Given the description of an element on the screen output the (x, y) to click on. 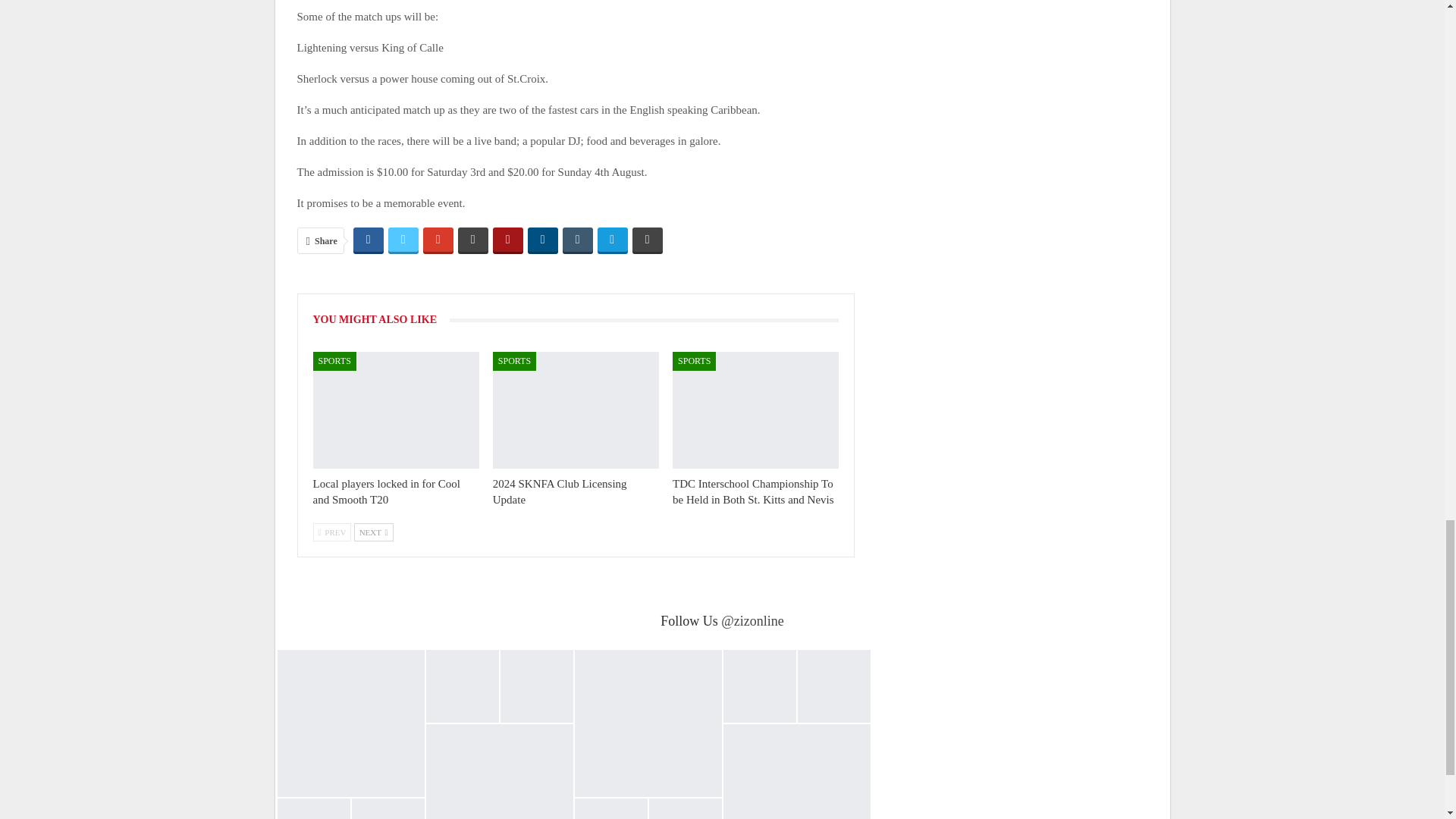
2024 SKNFA Club Licensing Update (576, 409)
Next (373, 532)
Local players locked in for Cool and Smooth T20 (396, 409)
Previous (331, 532)
2024 SKNFA Club Licensing Update (560, 491)
Local players locked in for Cool and Smooth T20 (386, 491)
